Given the description of an element on the screen output the (x, y) to click on. 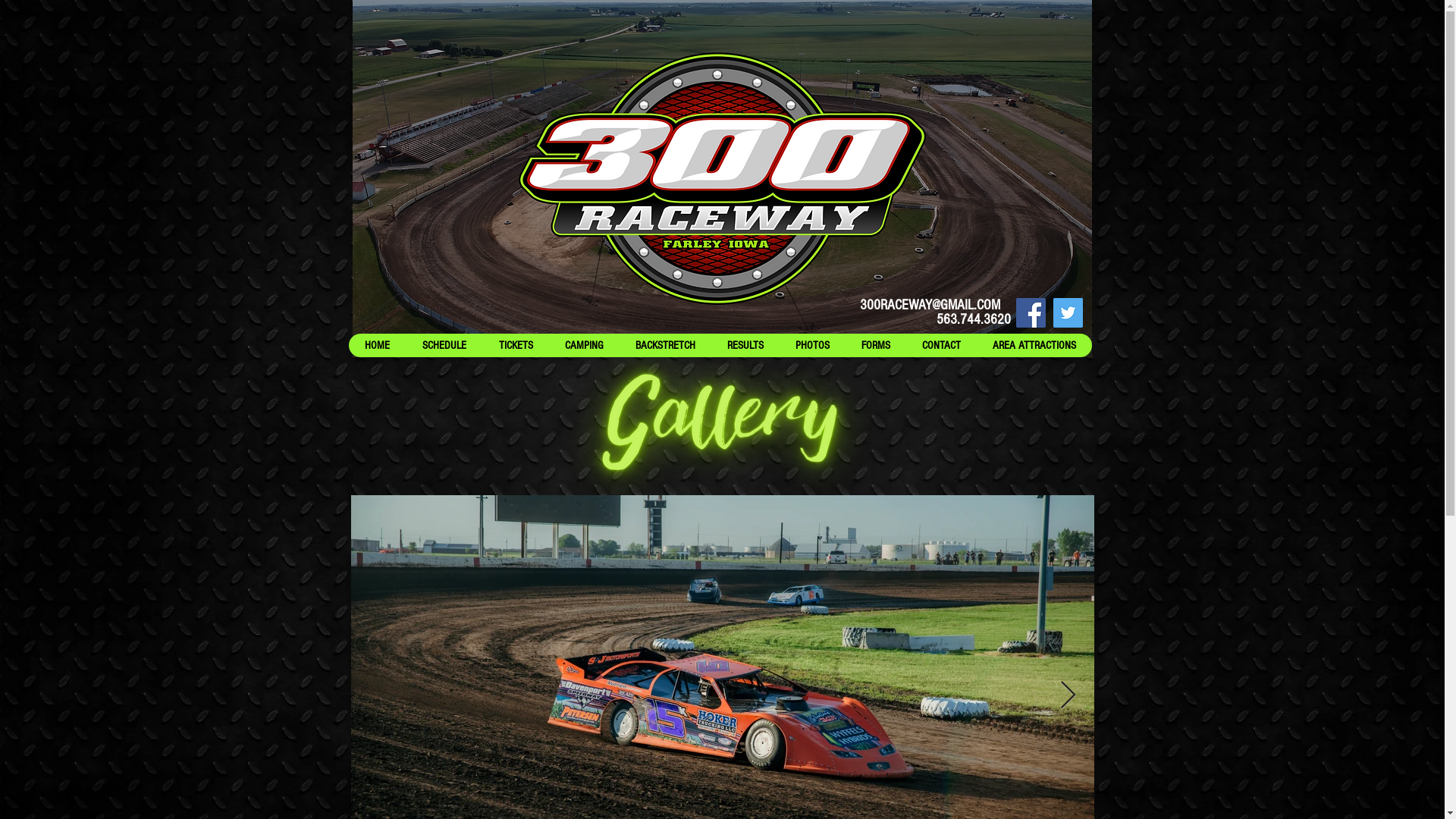
TICKETS Element type: text (515, 345)
FORMS Element type: text (874, 345)
SCHEDULE Element type: text (442, 345)
CAMPING Element type: text (584, 345)
AREA ATTRACTIONS Element type: text (1034, 345)
300RACEWAY@GMAIL.COM Element type: text (929, 305)
BACKSTRETCH Element type: text (664, 345)
CONTACT Element type: text (940, 345)
PHOTOS Element type: text (812, 345)
RESULTS Element type: text (745, 345)
HOME Element type: text (376, 345)
